Given the description of an element on the screen output the (x, y) to click on. 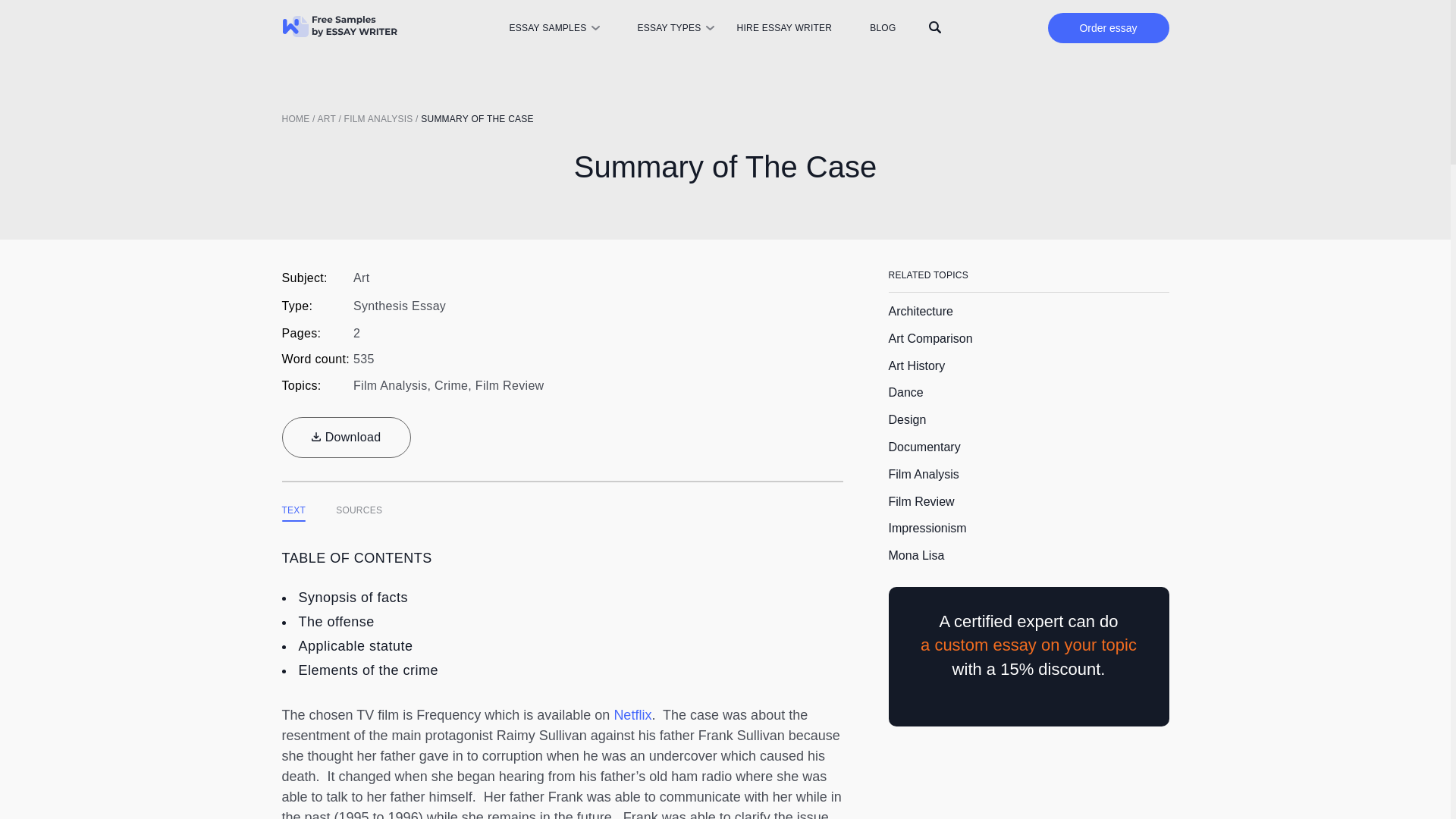
Elements of the crime (368, 670)
The offense (336, 621)
Synopsis of facts (353, 597)
Applicable statute (355, 645)
ESSAY TYPES (668, 28)
ESSAY SAMPLES (545, 28)
